Given the description of an element on the screen output the (x, y) to click on. 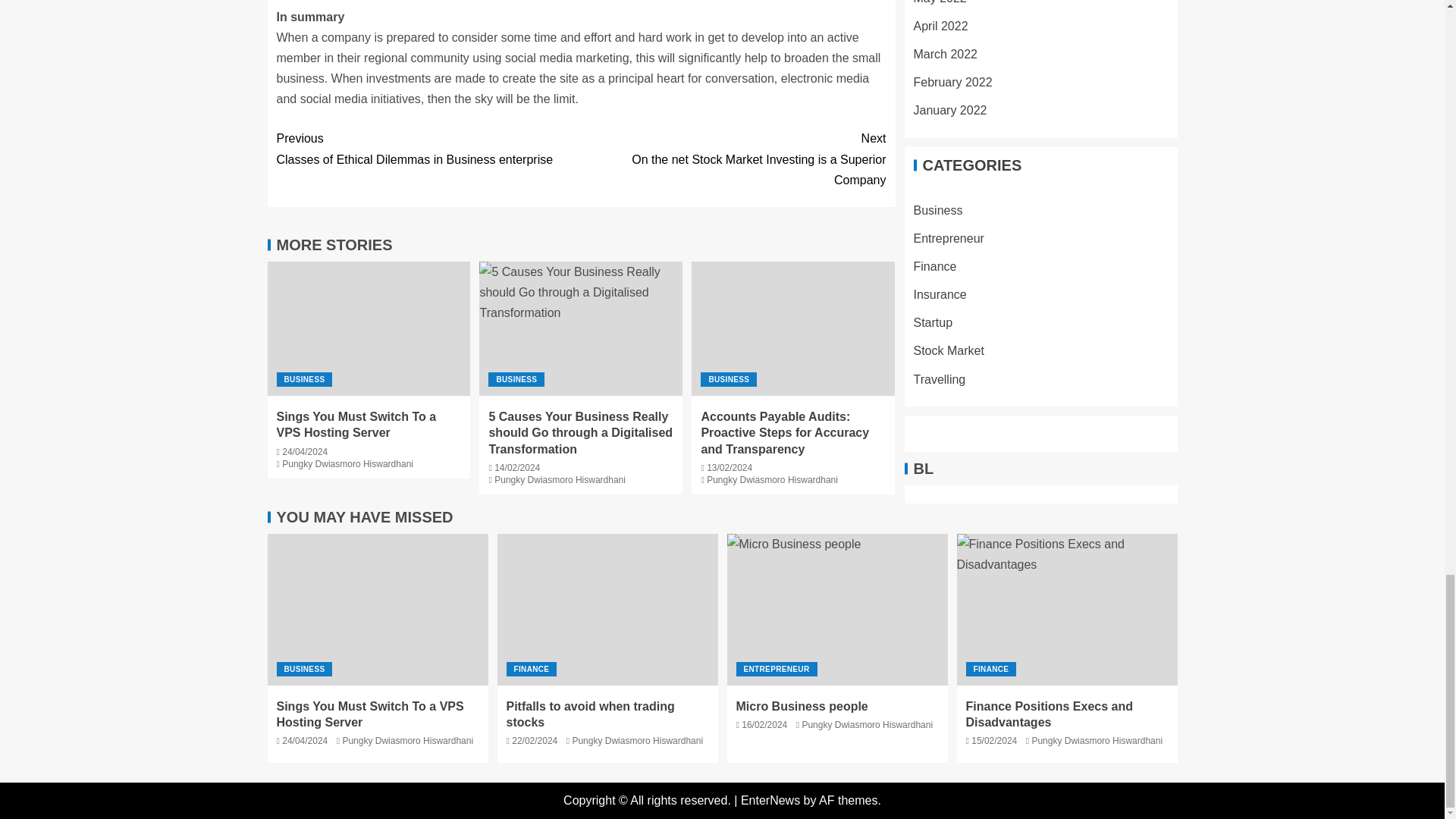
Pungky Dwiasmoro Hiswardhani (732, 158)
Pungky Dwiasmoro Hiswardhani (347, 463)
Pungky Dwiasmoro Hiswardhani (428, 147)
BUSINESS (772, 480)
Sings You Must Switch To a VPS Hosting Server (560, 480)
BUSINESS (515, 379)
BUSINESS (355, 424)
